Given the description of an element on the screen output the (x, y) to click on. 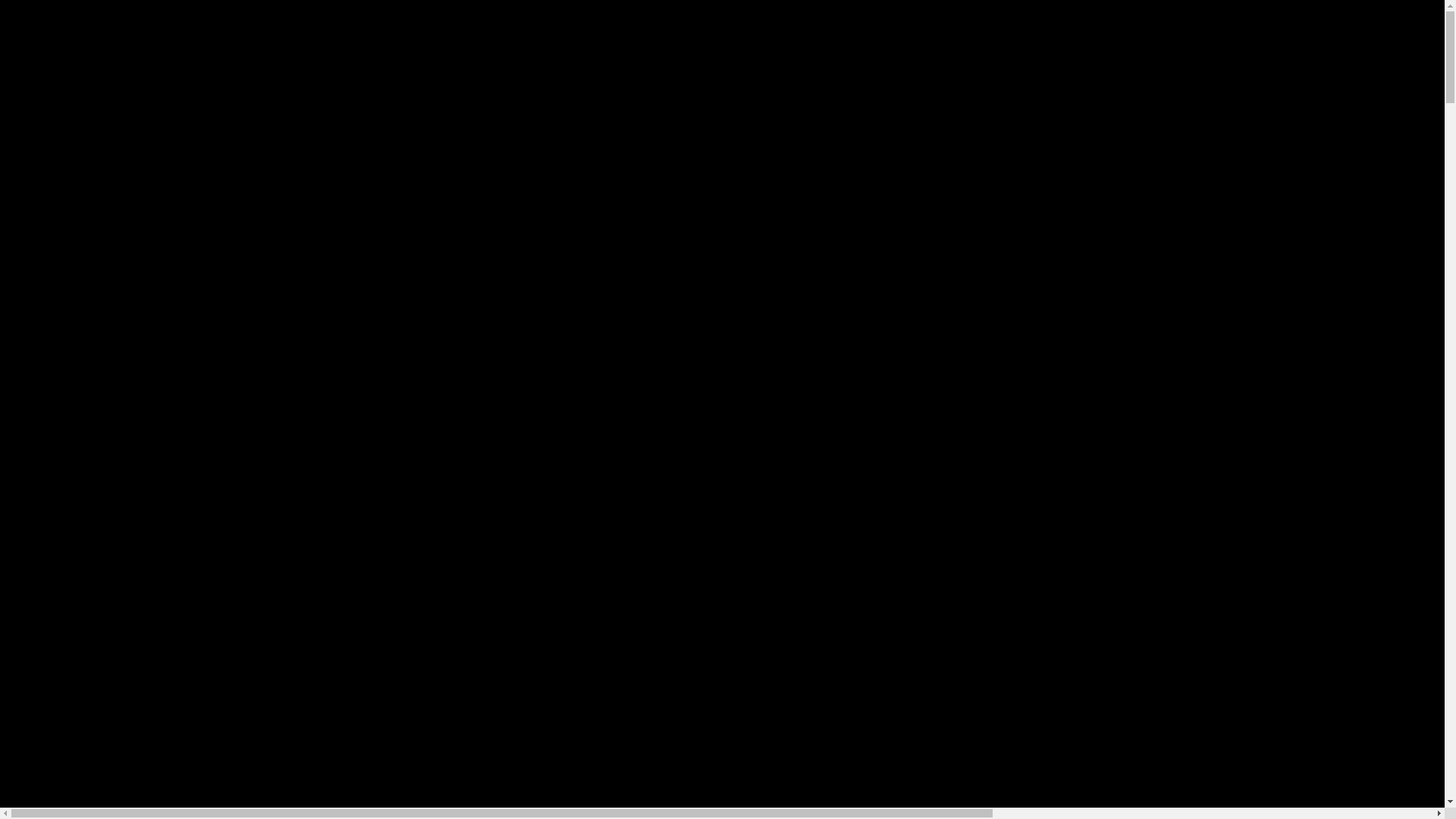
Services Element type: text (435, 106)
Portfolio Element type: text (434, 121)
Testimonials Element type: text (59, 326)
Home Element type: text (44, 265)
Portfolio Element type: text (49, 310)
About Us Element type: text (437, 90)
Contact Us Element type: text (56, 341)
Services Element type: text (50, 295)
Home Element type: text (429, 75)
sam@geckosigns.net.au Element type: text (99, 409)
Testimonials Element type: text (444, 136)
About Us Element type: text (52, 280)
Contact Us Element type: text (441, 151)
